Given the description of an element on the screen output the (x, y) to click on. 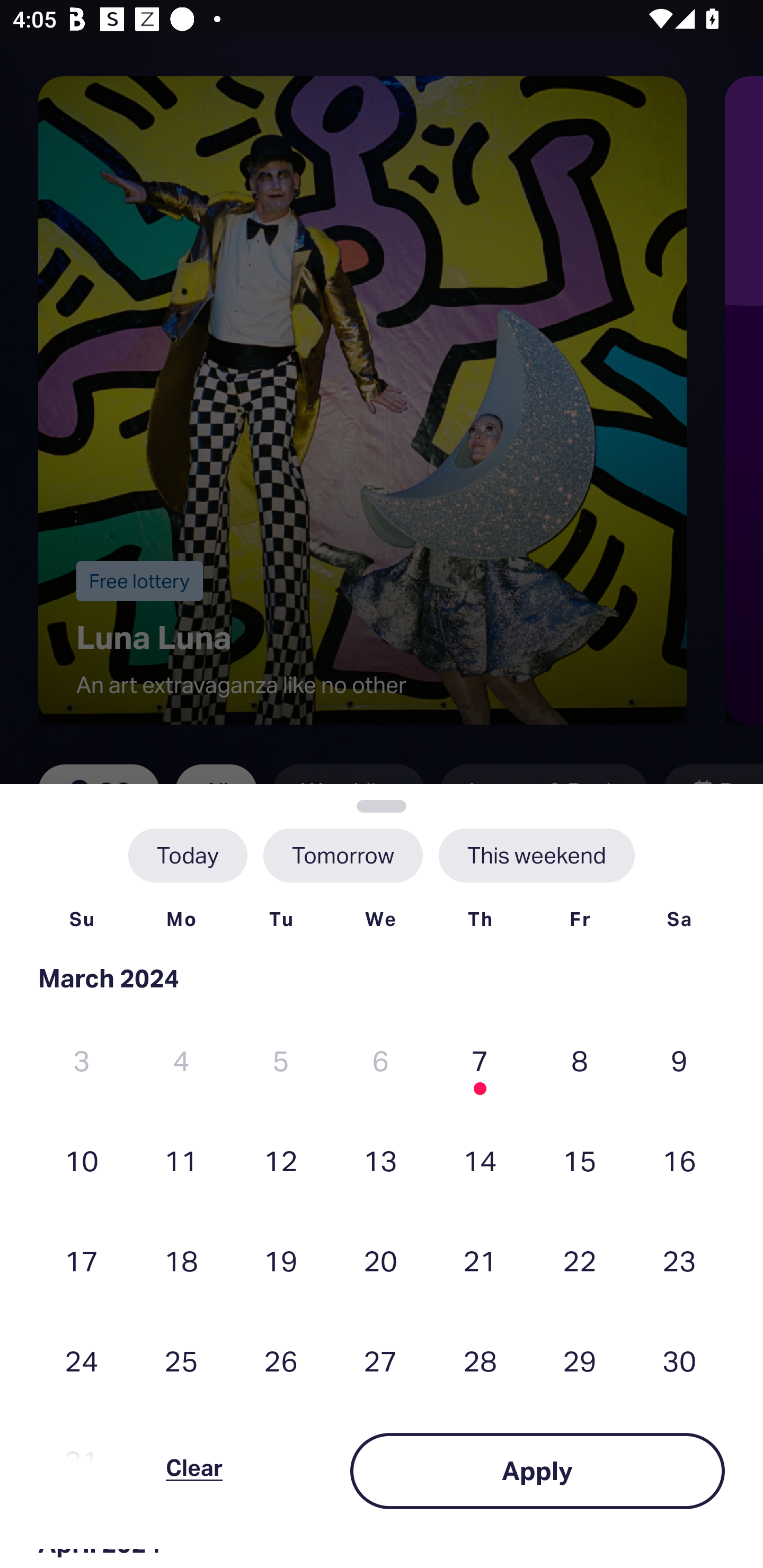
Today (187, 854)
Tomorrow (342, 854)
This weekend (536, 854)
3 (81, 1060)
4 (181, 1060)
5 (280, 1060)
6 (380, 1060)
7 (479, 1060)
8 (579, 1060)
9 (678, 1060)
10 (81, 1160)
11 (181, 1160)
12 (280, 1160)
13 (380, 1160)
14 (479, 1160)
15 (579, 1160)
16 (678, 1160)
17 (81, 1260)
18 (181, 1260)
19 (280, 1260)
20 (380, 1260)
21 (479, 1260)
22 (579, 1260)
23 (678, 1260)
24 (81, 1360)
25 (181, 1360)
26 (280, 1360)
27 (380, 1360)
28 (479, 1360)
29 (579, 1360)
30 (678, 1360)
Clear (194, 1470)
Apply (537, 1470)
